Given the description of an element on the screen output the (x, y) to click on. 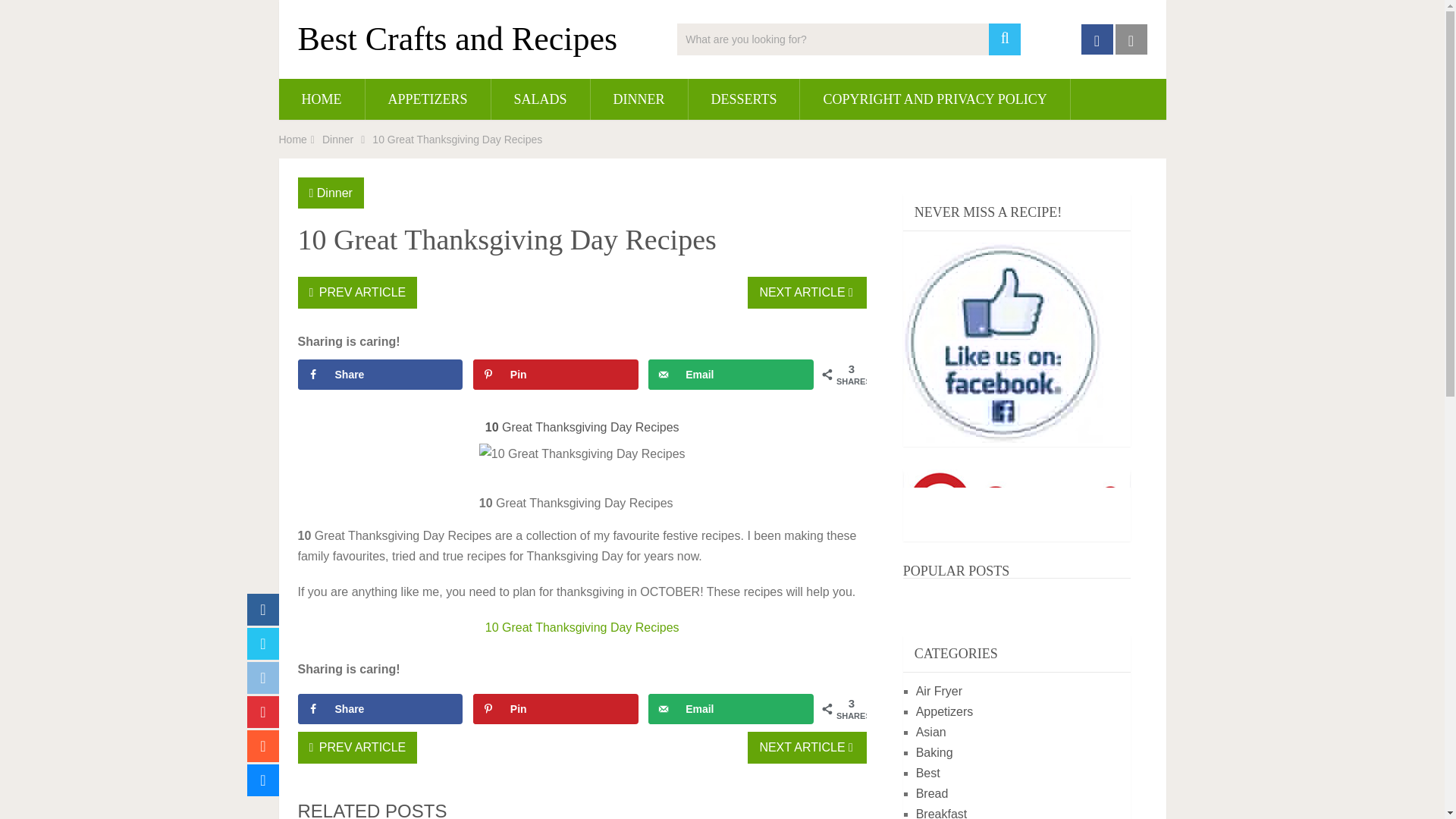
Share (380, 374)
Pin (556, 708)
Home (293, 139)
Email (730, 708)
DESSERTS (743, 98)
NEXT ARTICLE (807, 292)
NEXT ARTICLE (807, 747)
SALADS (540, 98)
DINNER (639, 98)
Send over email (730, 374)
